Given the description of an element on the screen output the (x, y) to click on. 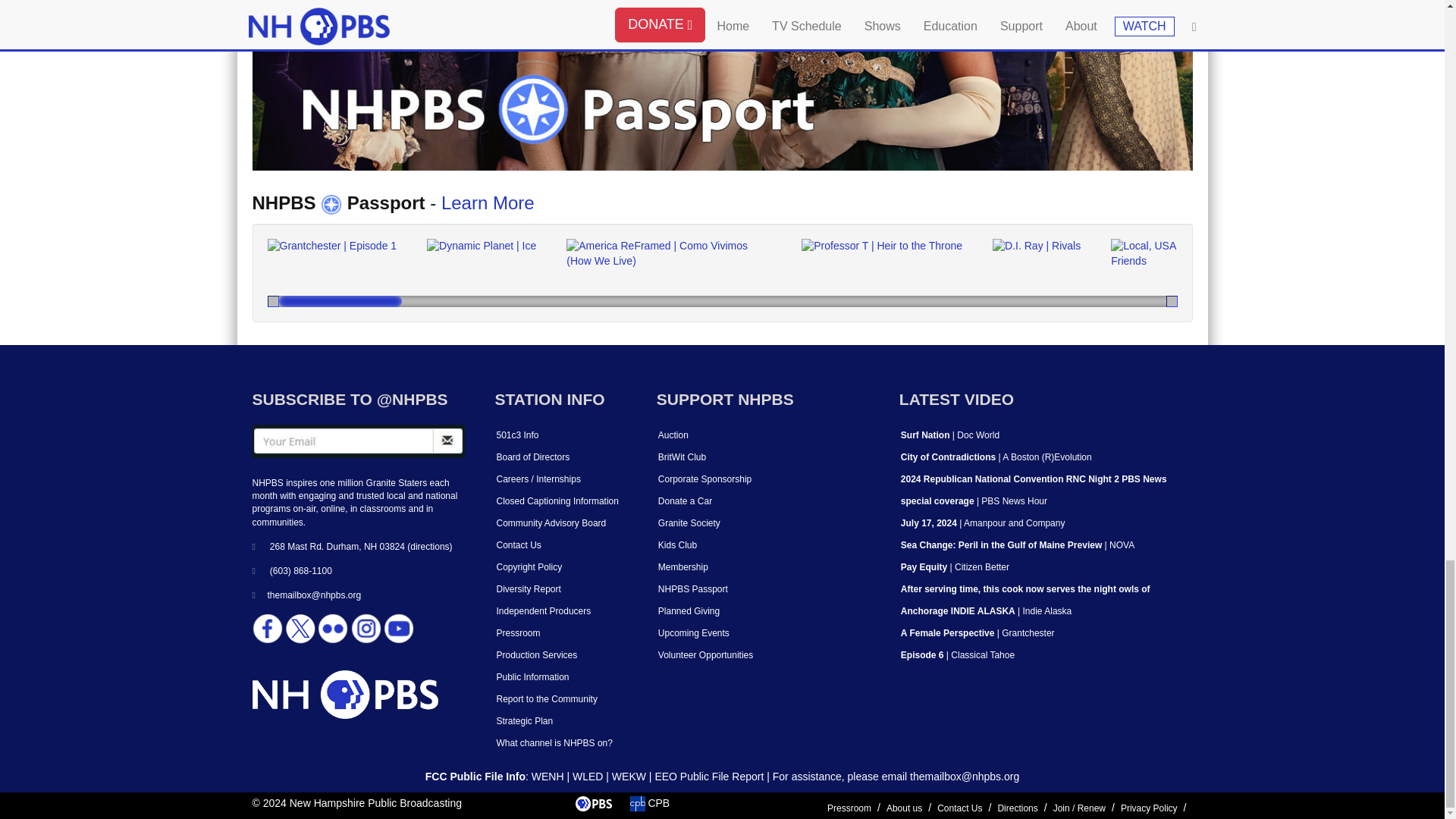
Flickr (332, 628)
Instagram (365, 628)
Facebook (266, 628)
YouTube (398, 628)
Directions (429, 546)
Twitter (300, 628)
